Given the description of an element on the screen output the (x, y) to click on. 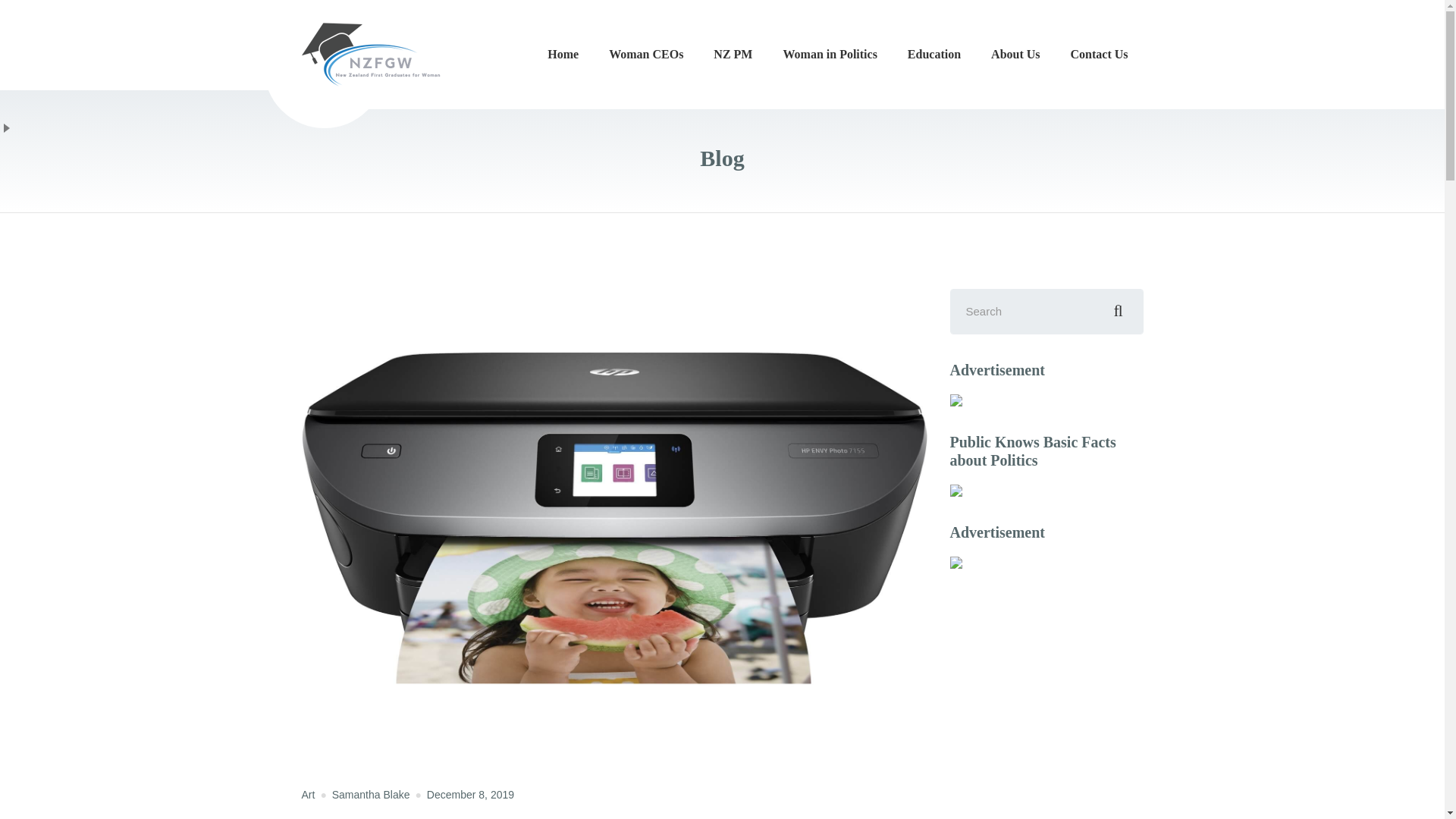
Contact Us (1098, 54)
Woman CEOs (646, 54)
About Us (1014, 54)
Education (933, 54)
Woman in Politics (829, 54)
Art (308, 794)
NZ PM (732, 54)
December 8, 2019 (469, 794)
Home (563, 54)
